Given the description of an element on the screen output the (x, y) to click on. 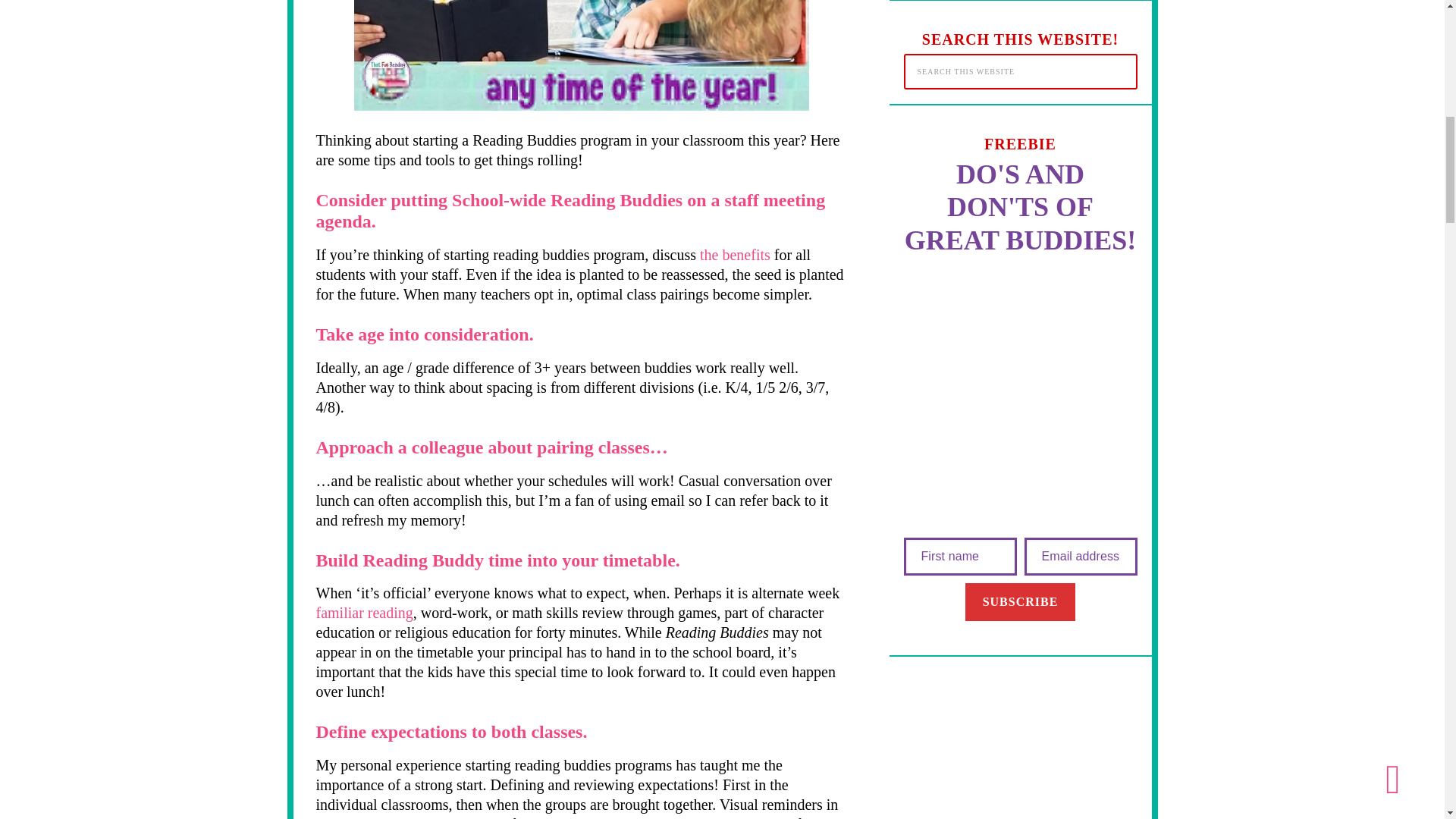
SUBSCRIBE (1020, 601)
familiar reading (363, 612)
the benefits (735, 254)
